Given the description of an element on the screen output the (x, y) to click on. 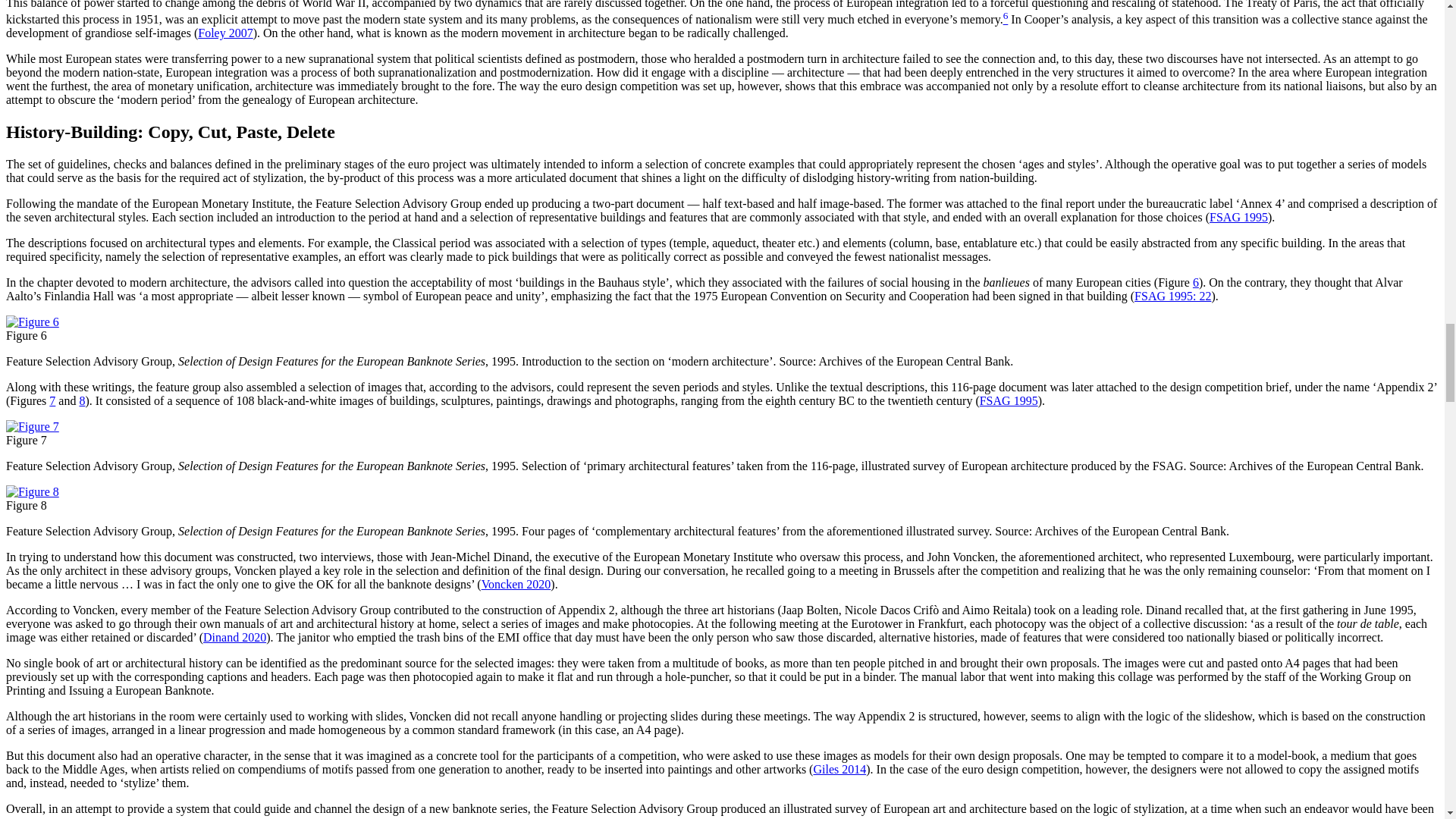
Figure 7 (32, 426)
Figure 6 (32, 321)
Figure 8 (32, 491)
